Given the description of an element on the screen output the (x, y) to click on. 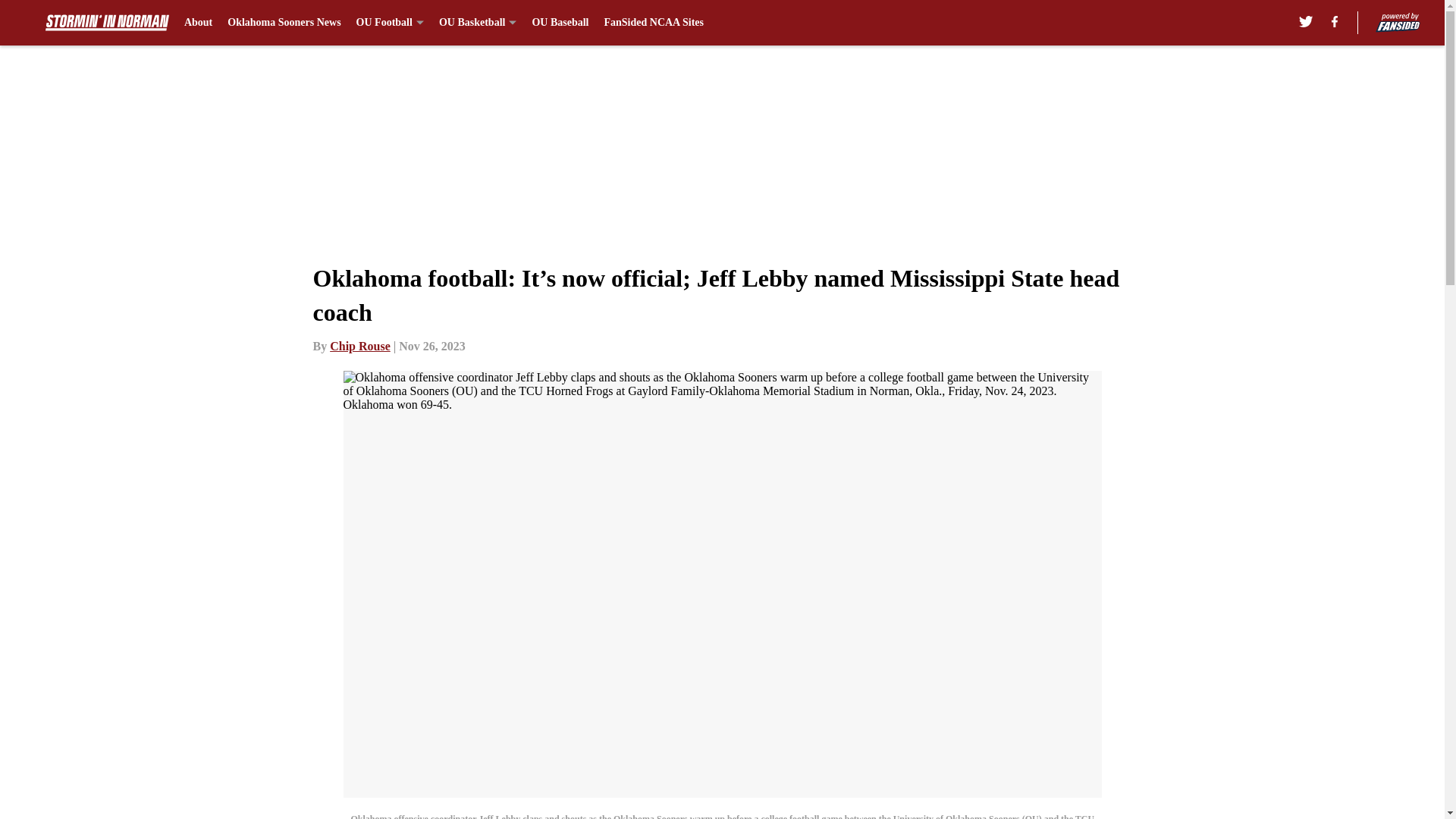
Oklahoma Sooners News (283, 22)
Chip Rouse (360, 345)
About (198, 22)
FanSided NCAA Sites (653, 22)
OU Baseball (559, 22)
